Given the description of an element on the screen output the (x, y) to click on. 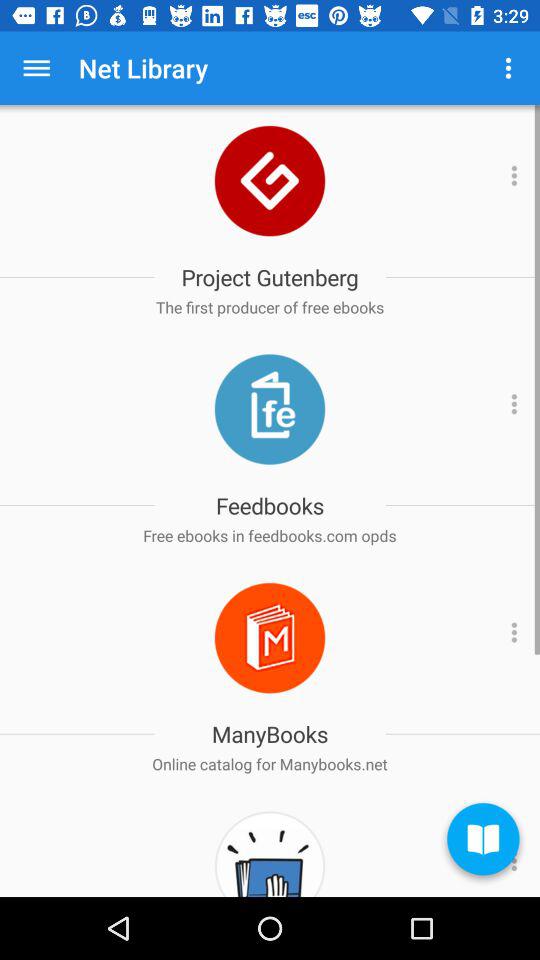
tap the the first producer (270, 307)
